Given the description of an element on the screen output the (x, y) to click on. 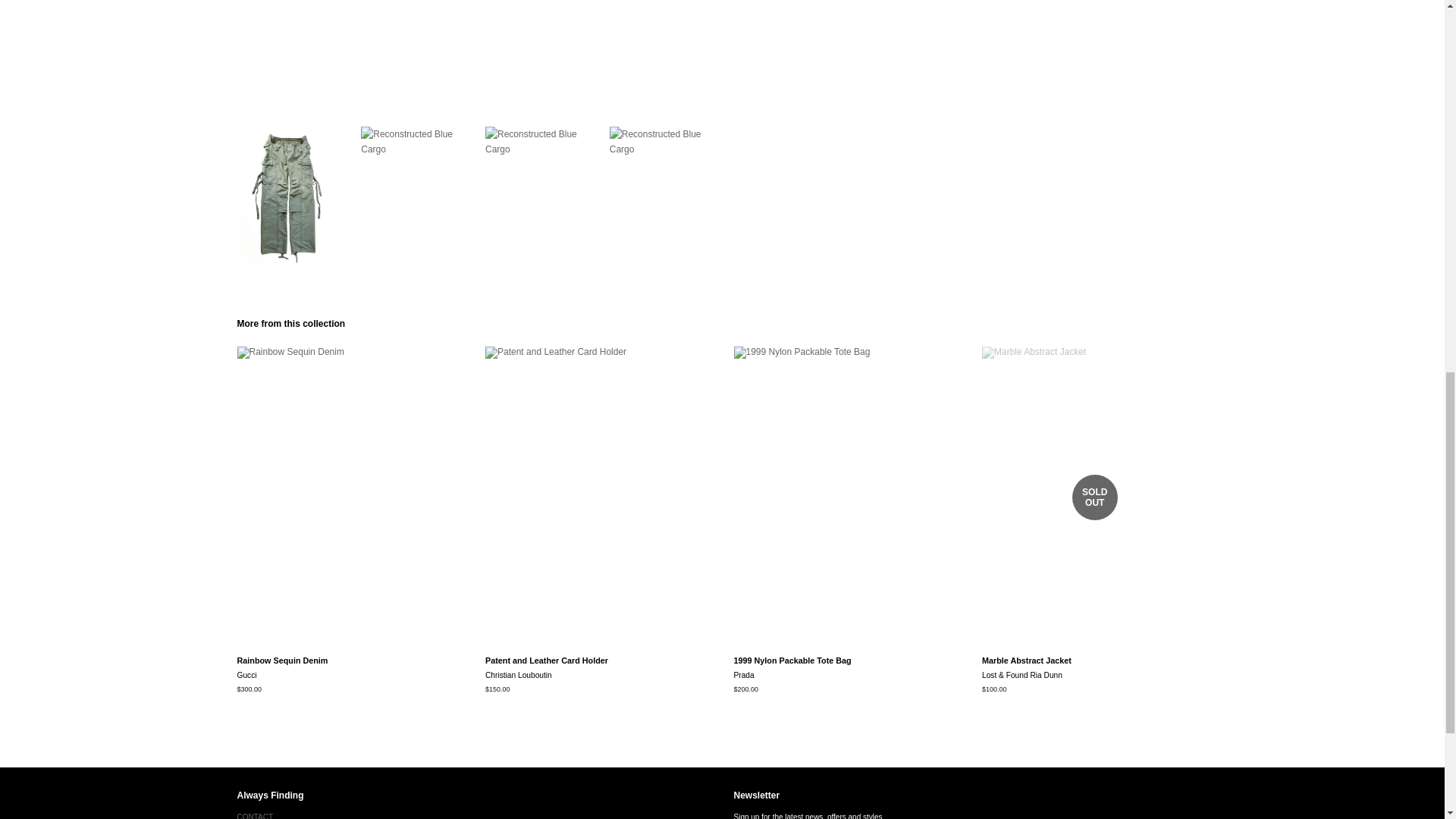
CONTACT (254, 816)
